Given the description of an element on the screen output the (x, y) to click on. 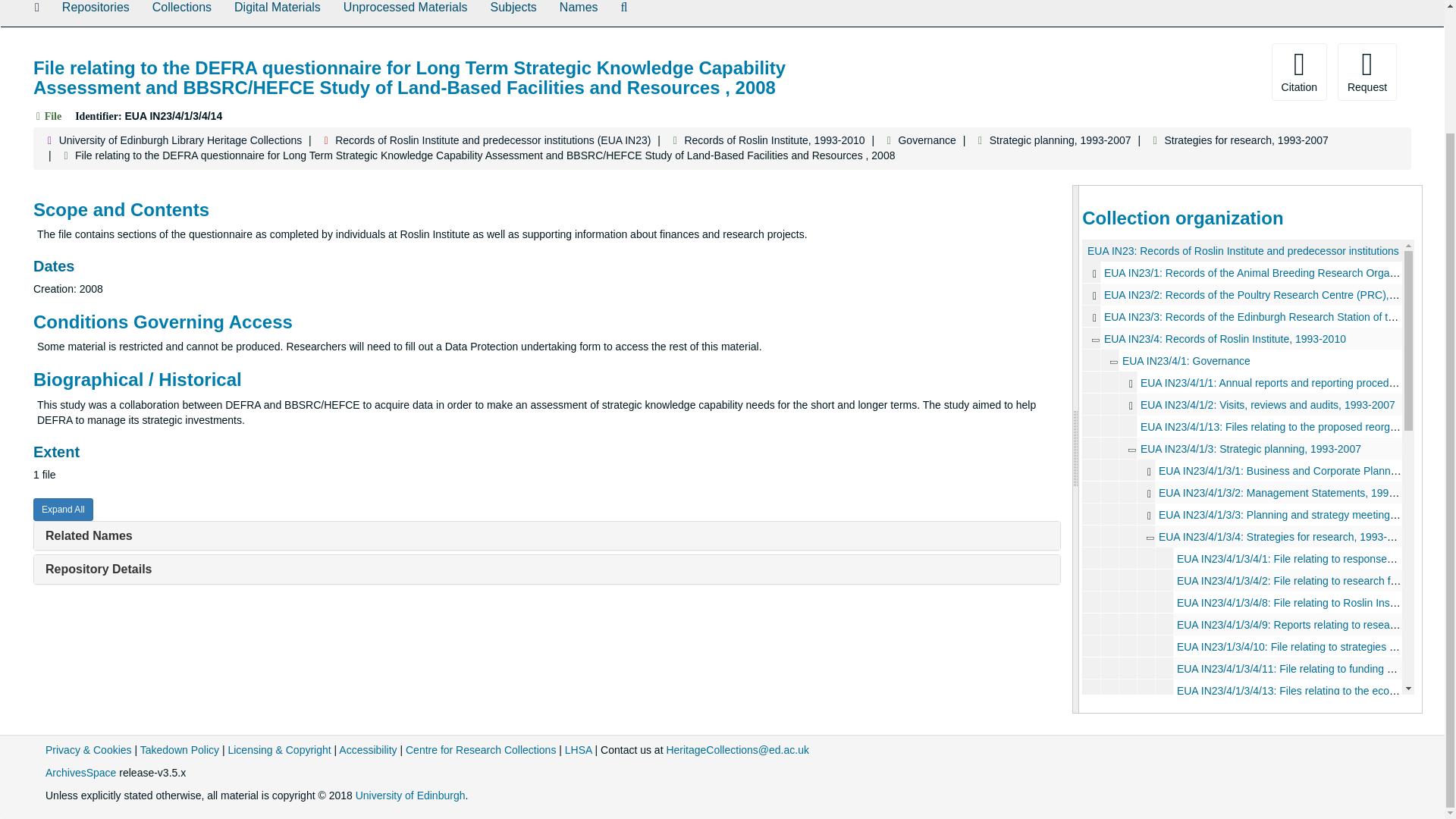
Unprocessed Materials (405, 13)
Repositories (95, 13)
Planning and strategy meeting papers (1242, 514)
Visits, reviews and audits (1242, 404)
Governance (1242, 360)
Annual reports and reporting procedures (1242, 382)
Records of Roslin Institute (1242, 338)
Expand All (63, 508)
Search The Archives (624, 13)
Digital Materials (276, 13)
